Given the description of an element on the screen output the (x, y) to click on. 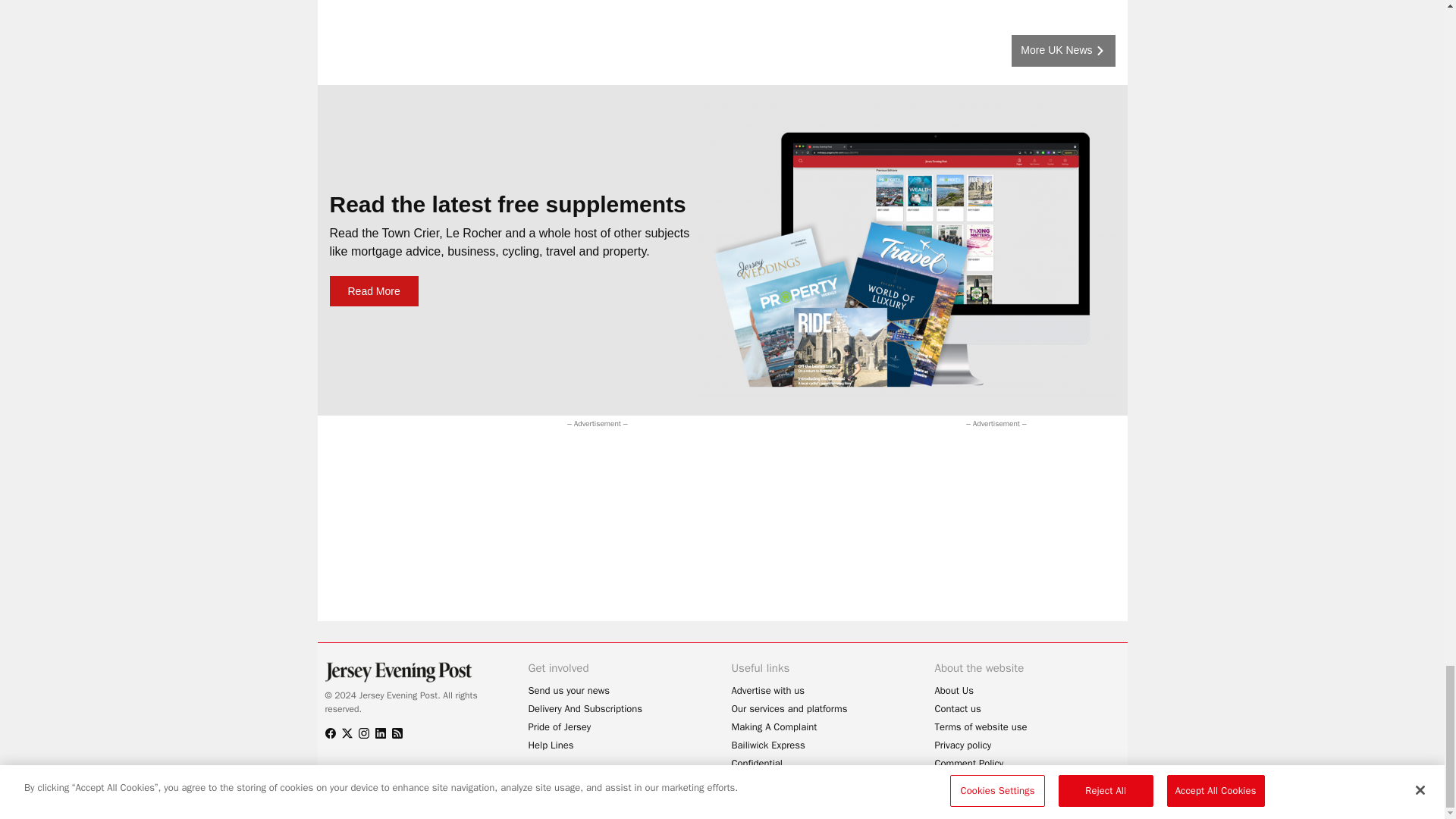
3rd party ad content (978, 525)
3rd party ad content (610, 465)
